Given the description of an element on the screen output the (x, y) to click on. 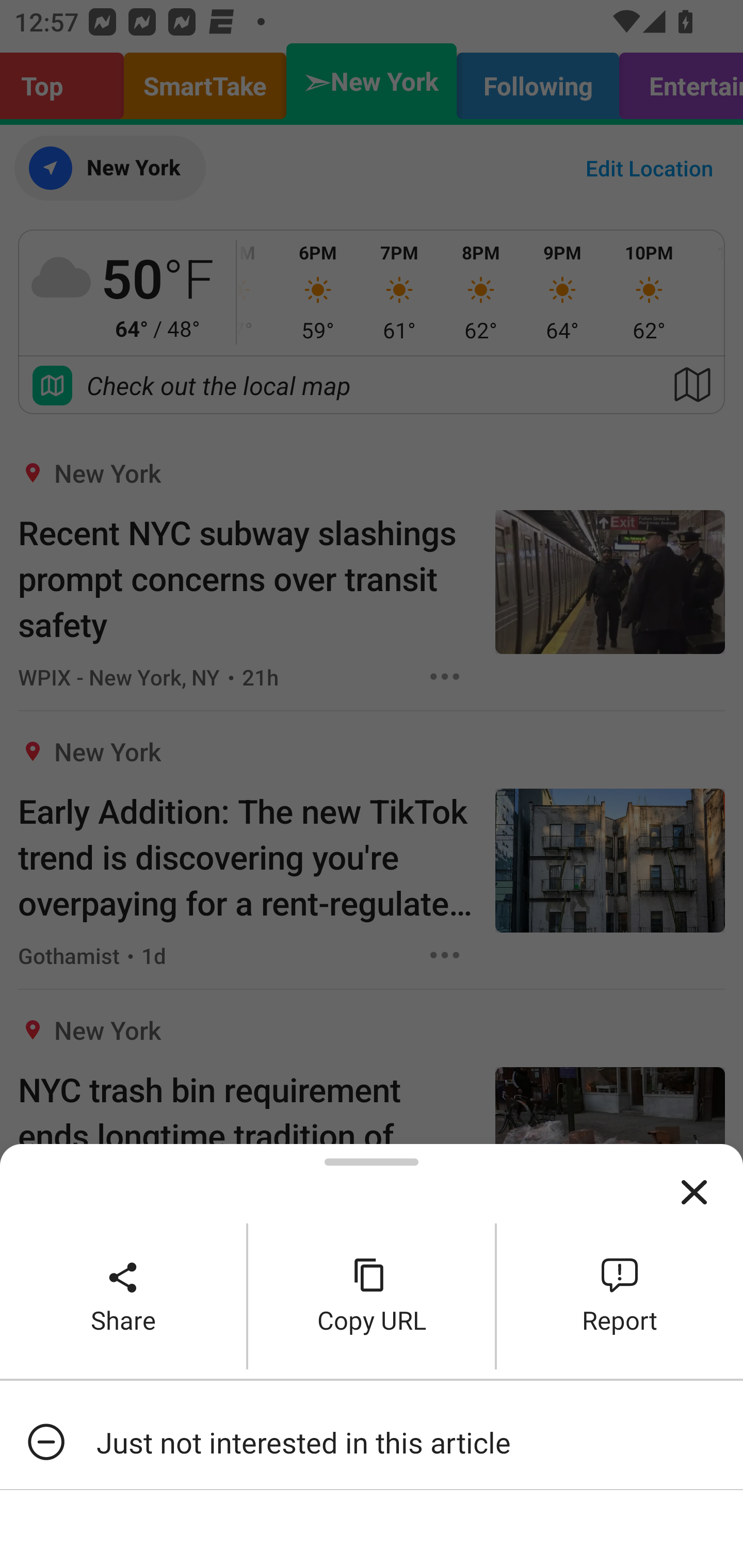
Close (694, 1192)
Share (122, 1295)
Copy URL (371, 1295)
Report (620, 1295)
Just not interested in this article (371, 1442)
